Given the description of an element on the screen output the (x, y) to click on. 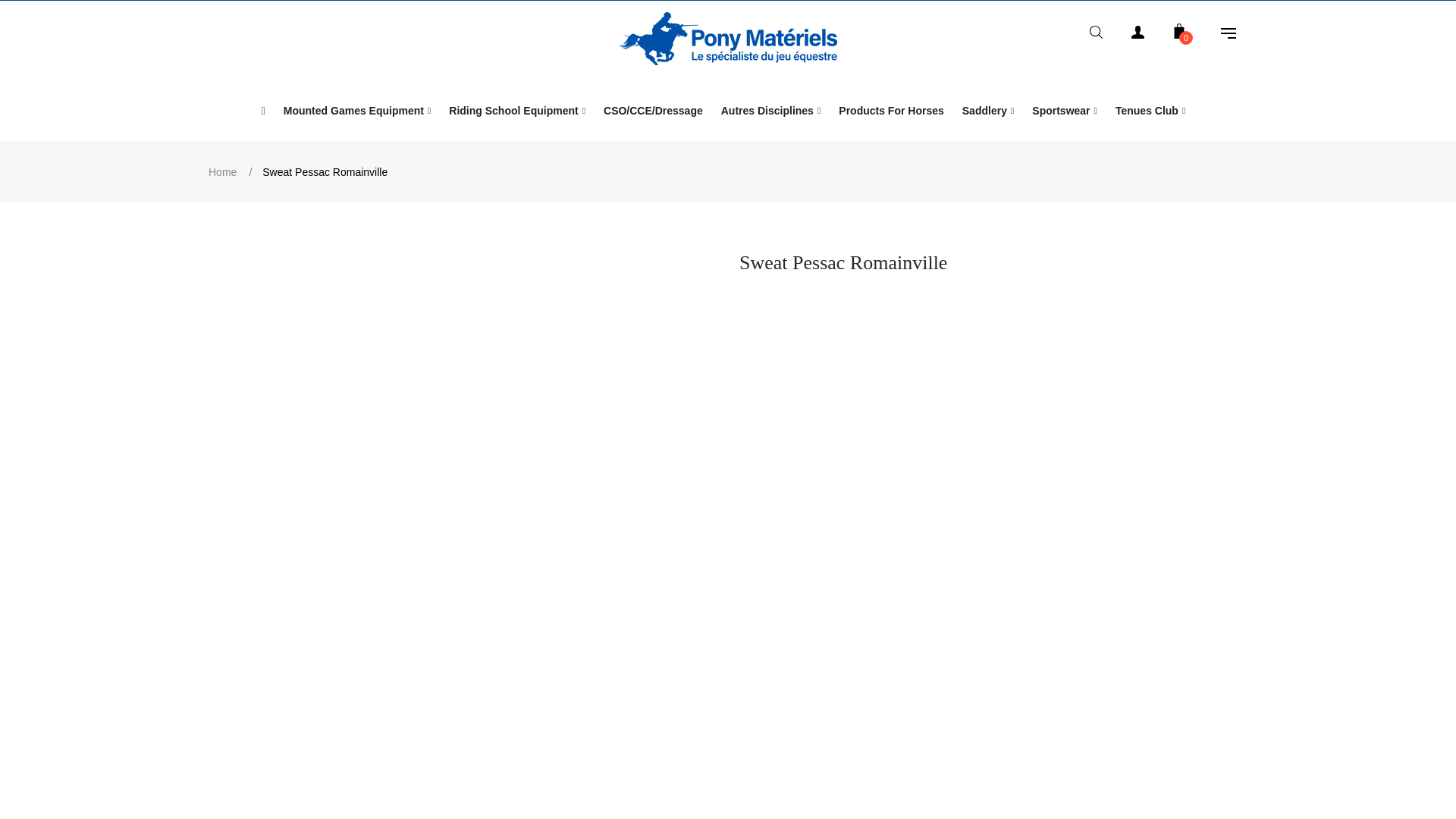
Mounted Games Equipment (358, 110)
Products For Horses (890, 110)
Riding School Equipment (516, 110)
Saddlery (988, 110)
Sportswear (1064, 110)
Autres Disciplines (770, 110)
